Given the description of an element on the screen output the (x, y) to click on. 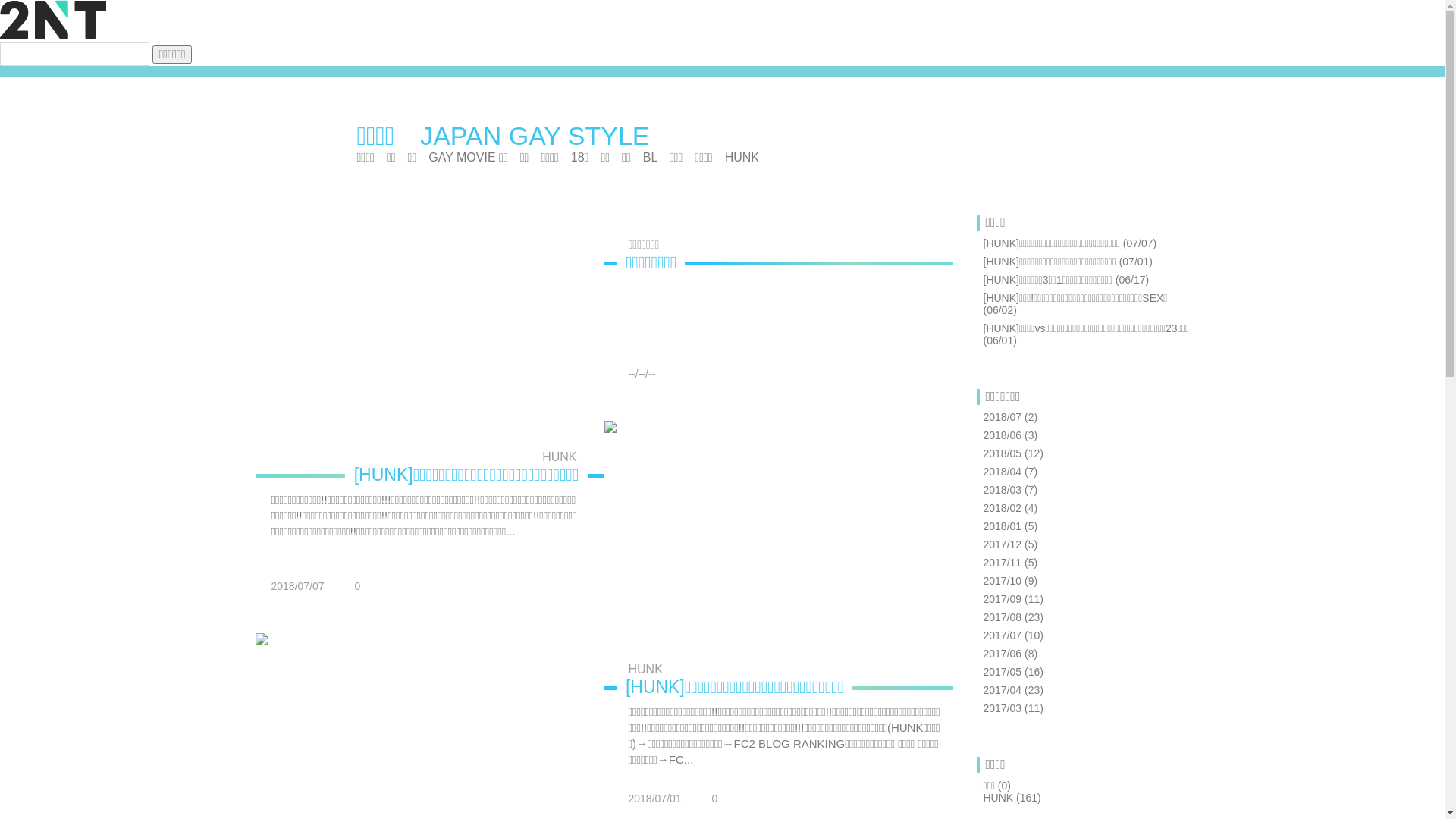
2017/11 (5) Element type: text (1009, 562)
2017/04 (23) Element type: text (1012, 690)
HUNK (161) Element type: text (1011, 797)
2017/08 (23) Element type: text (1012, 617)
2017/05 (16) Element type: text (1012, 671)
2018/06 (3) Element type: text (1009, 435)
2018/03 (7) Element type: text (1009, 489)
2018/01 (5) Element type: text (1009, 526)
2017/03 (11) Element type: text (1012, 708)
2018/02 (4) Element type: text (1009, 508)
2017/07 (10) Element type: text (1012, 635)
2017/10 (9) Element type: text (1009, 580)
HUNK Element type: text (424, 457)
2017/12 (5) Element type: text (1009, 544)
2018/05 (12) Element type: text (1012, 453)
2017/09 (11) Element type: text (1012, 599)
0 Element type: text (349, 586)
0 Element type: text (706, 799)
2018/07 (2) Element type: text (1009, 417)
2018/04 (7) Element type: text (1009, 471)
HUNK Element type: text (779, 669)
2017/06 (8) Element type: text (1009, 653)
